Given the description of an element on the screen output the (x, y) to click on. 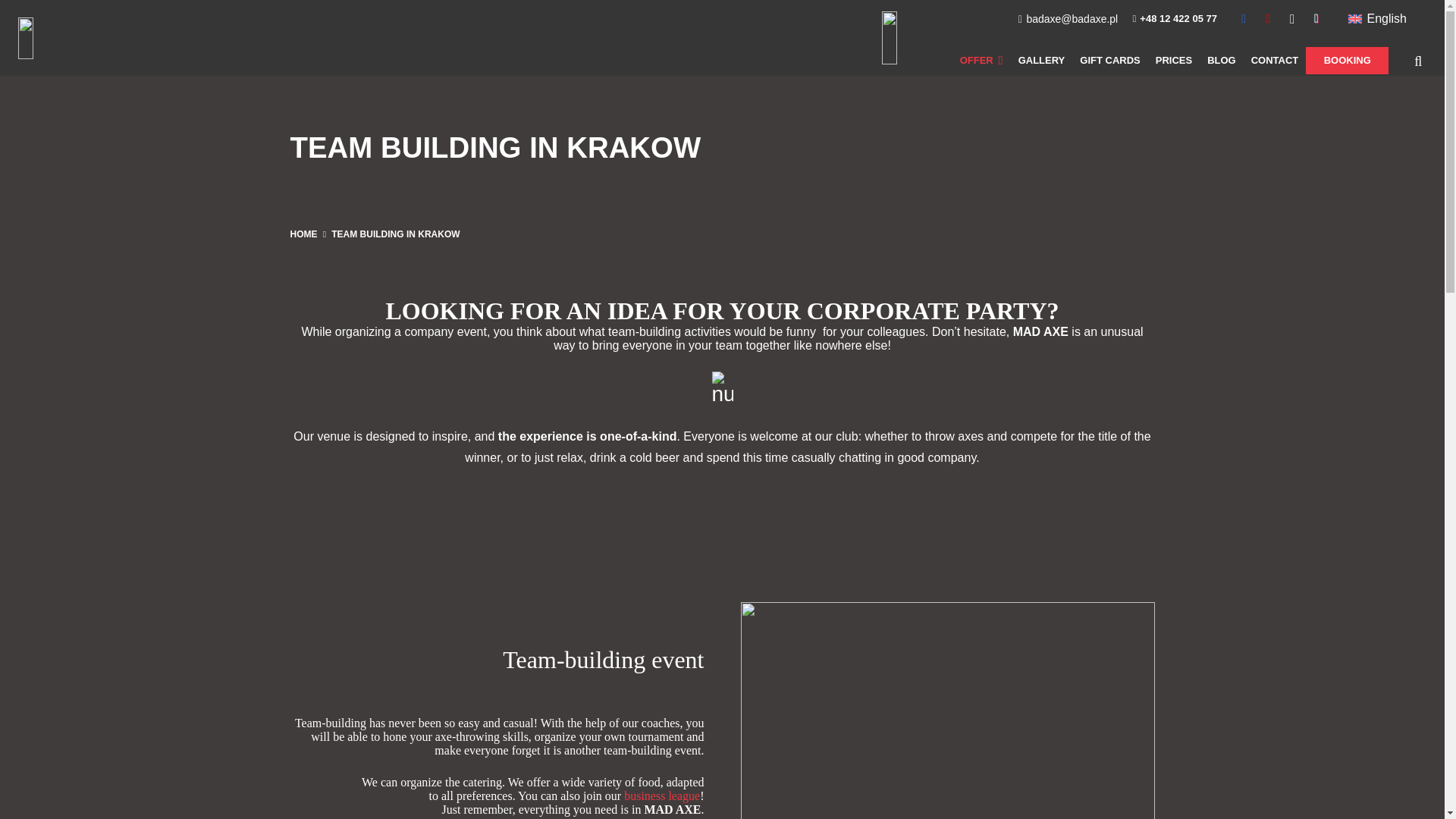
GIFT CARDS (1109, 60)
Facebook (1243, 18)
business league (662, 795)
TEAM BUILDING IN KRAKOW (395, 234)
HOME (303, 234)
Instagram (1291, 18)
YouTube (1267, 18)
OFFER (981, 60)
TikTok (1315, 18)
BLOG (1221, 60)
PRICES (1173, 60)
GALLERY (1041, 60)
CONTACT (1274, 60)
English (1376, 18)
BOOKING (1347, 60)
